Given the description of an element on the screen output the (x, y) to click on. 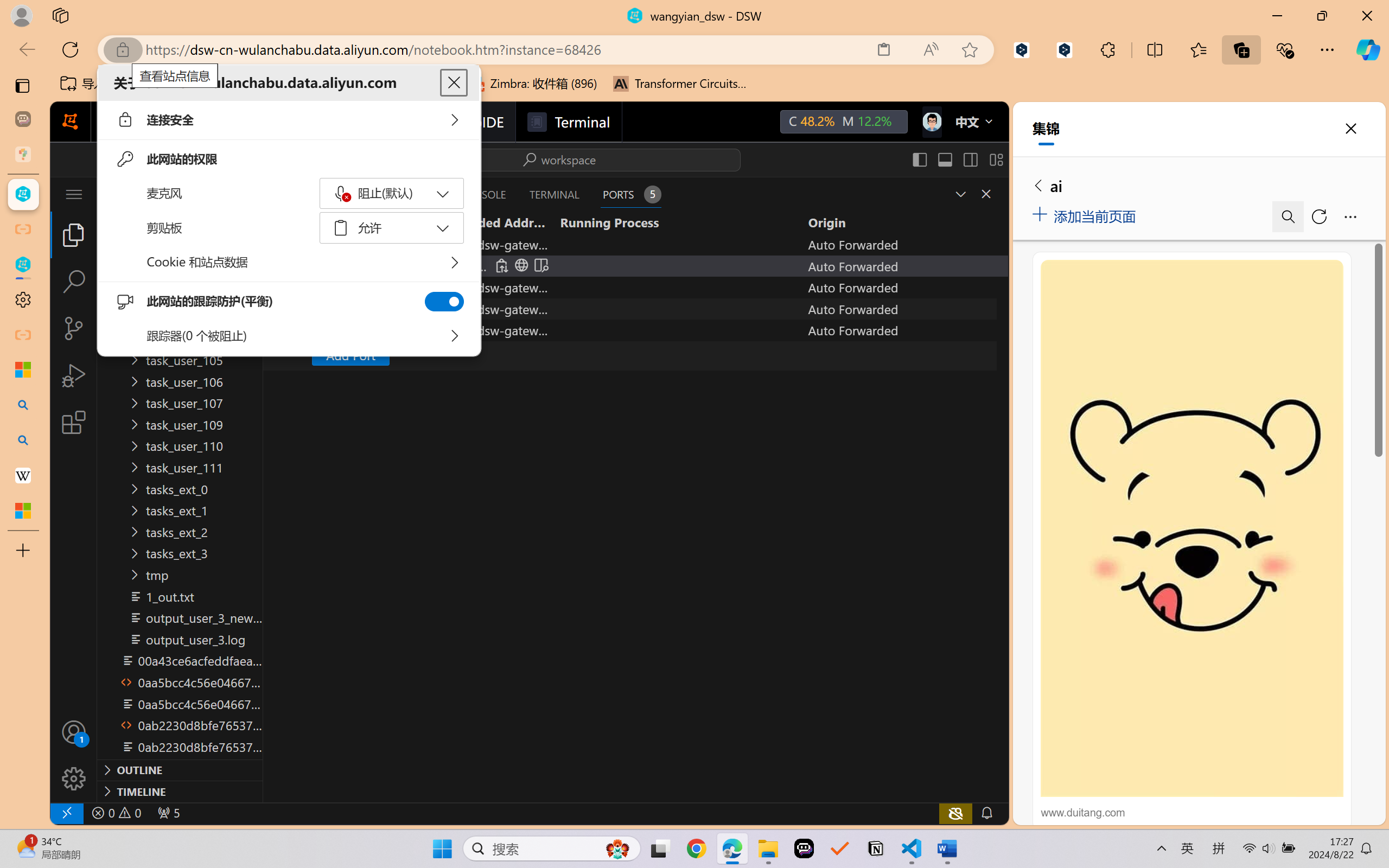
wangyian_webcrawler - DSW (22, 264)
Accounts - Sign in requested (73, 732)
Earth - Wikipedia (22, 475)
Class: actions-container (974, 194)
Extensions (Ctrl+Shift+X) (73, 422)
Terminal (Ctrl+`) (553, 194)
